Given the description of an element on the screen output the (x, y) to click on. 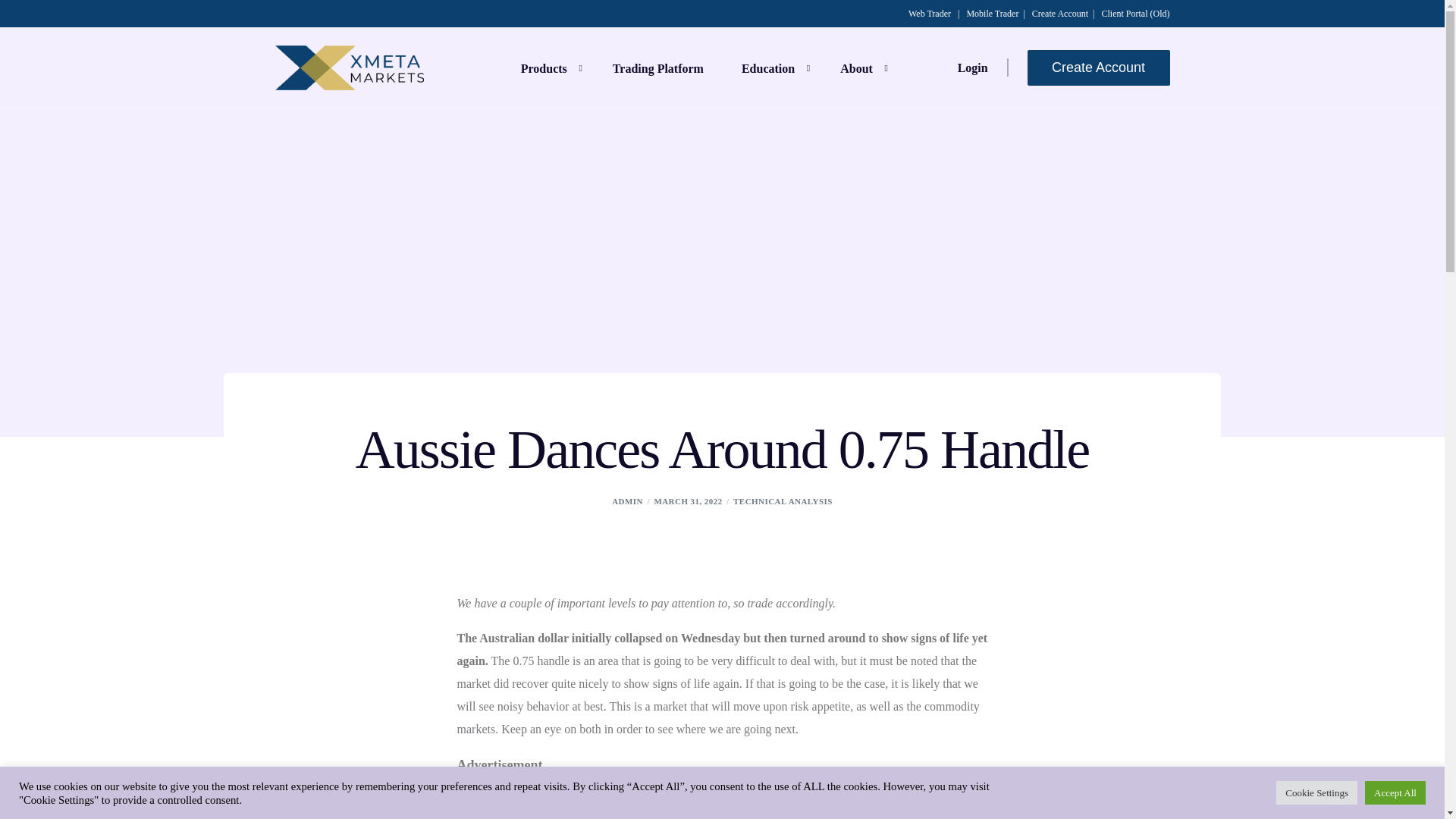
Products (548, 67)
Education (771, 67)
About (860, 67)
Mobile Trader (991, 13)
Create Account (1059, 13)
Posts by admin (627, 501)
Trading Platform (658, 67)
Web Trader (929, 13)
